Given the description of an element on the screen output the (x, y) to click on. 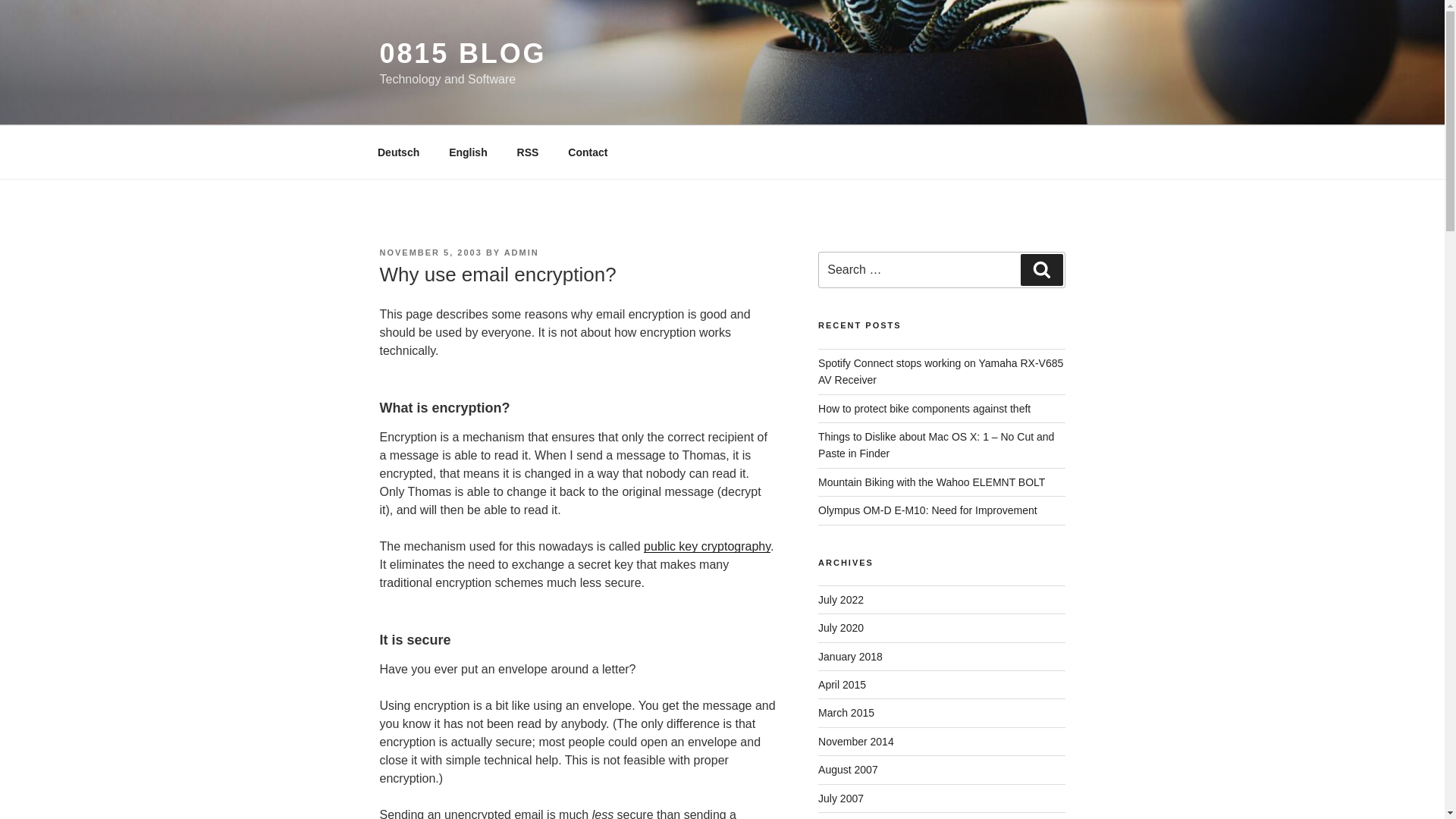
August 2007 (847, 769)
0815 BLOG (462, 52)
NOVEMBER 5, 2003 (429, 252)
Mountain Biking with the Wahoo ELEMNT BOLT (931, 481)
July 2022 (840, 599)
April 2015 (842, 684)
Deutsch (398, 151)
Search (1041, 269)
November 2014 (855, 741)
public key cryptography (706, 545)
Olympus OM-D E-M10: Need for Improvement (927, 510)
Contact (587, 151)
RSS (527, 151)
March 2015 (846, 712)
July 2020 (840, 627)
